Given the description of an element on the screen output the (x, y) to click on. 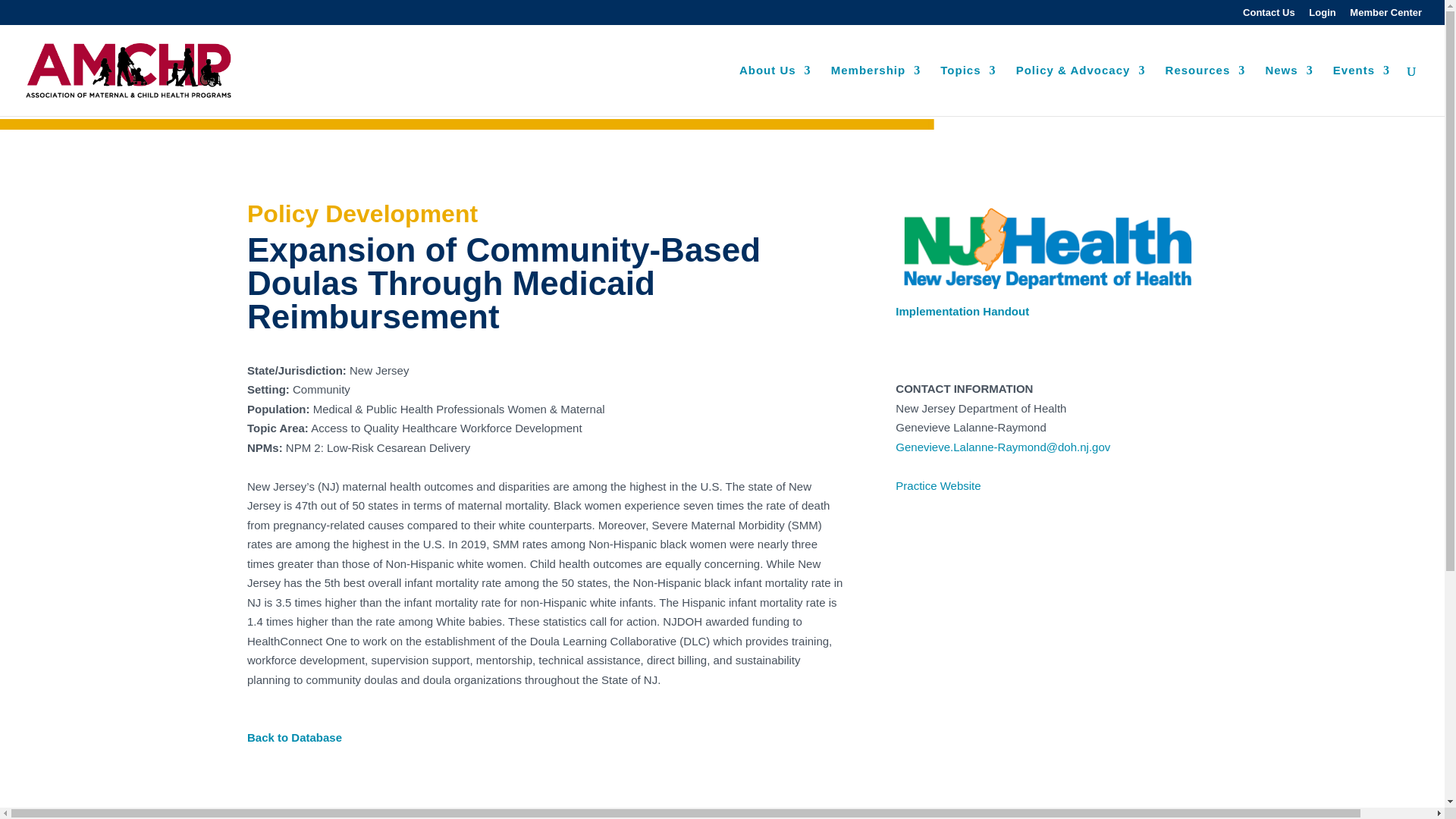
About Us (774, 90)
Membership (875, 90)
Member Center (1385, 16)
Contact Us (1269, 16)
Topics (967, 90)
Login (1321, 16)
